Given the description of an element on the screen output the (x, y) to click on. 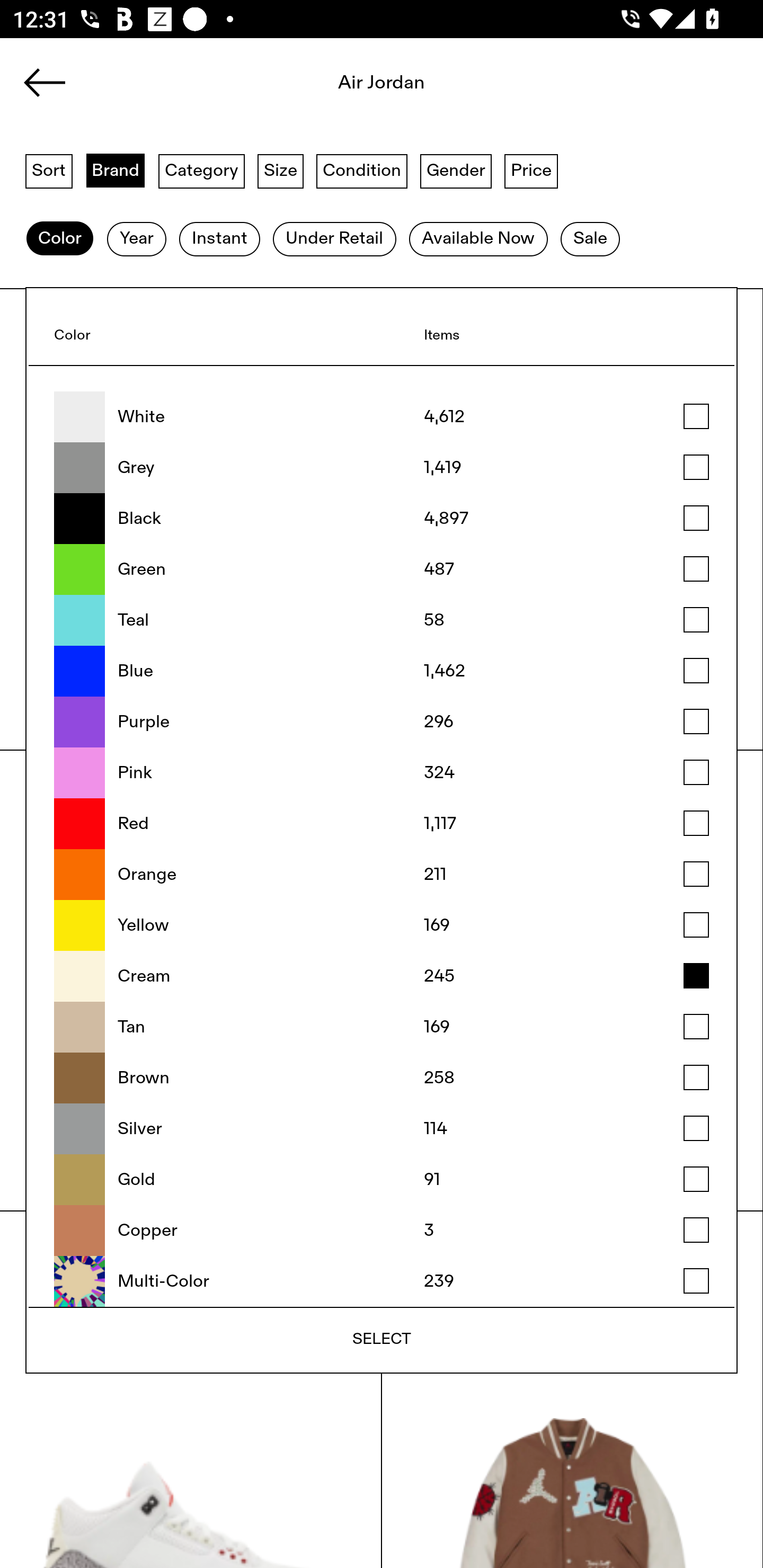
Sort (48, 170)
Brand (115, 170)
Category (201, 170)
Size (280, 170)
Condition (361, 170)
Gender (455, 170)
Price (530, 170)
Color (59, 239)
Year (136, 239)
Instant (219, 239)
Under Retail (334, 239)
Available Now (477, 239)
Sale (589, 239)
White 4,612 (381, 417)
Grey 1,419 (381, 467)
Black 4,897 (381, 518)
Green 487 (381, 569)
Teal 58 (381, 620)
Blue 1,462 (381, 671)
Purple 296 (381, 721)
Pink 324 (381, 772)
Red 1,117 (381, 823)
Orange 211 (381, 874)
Yellow 169 (381, 925)
Cream 245 (381, 975)
Tan 169 (381, 1026)
Brown 258 (381, 1077)
Silver 114 (381, 1128)
Gold 91 (381, 1179)
Copper 3 (381, 1230)
Multi-Color 239 (381, 1280)
SELECT (381, 1338)
